Given the description of an element on the screen output the (x, y) to click on. 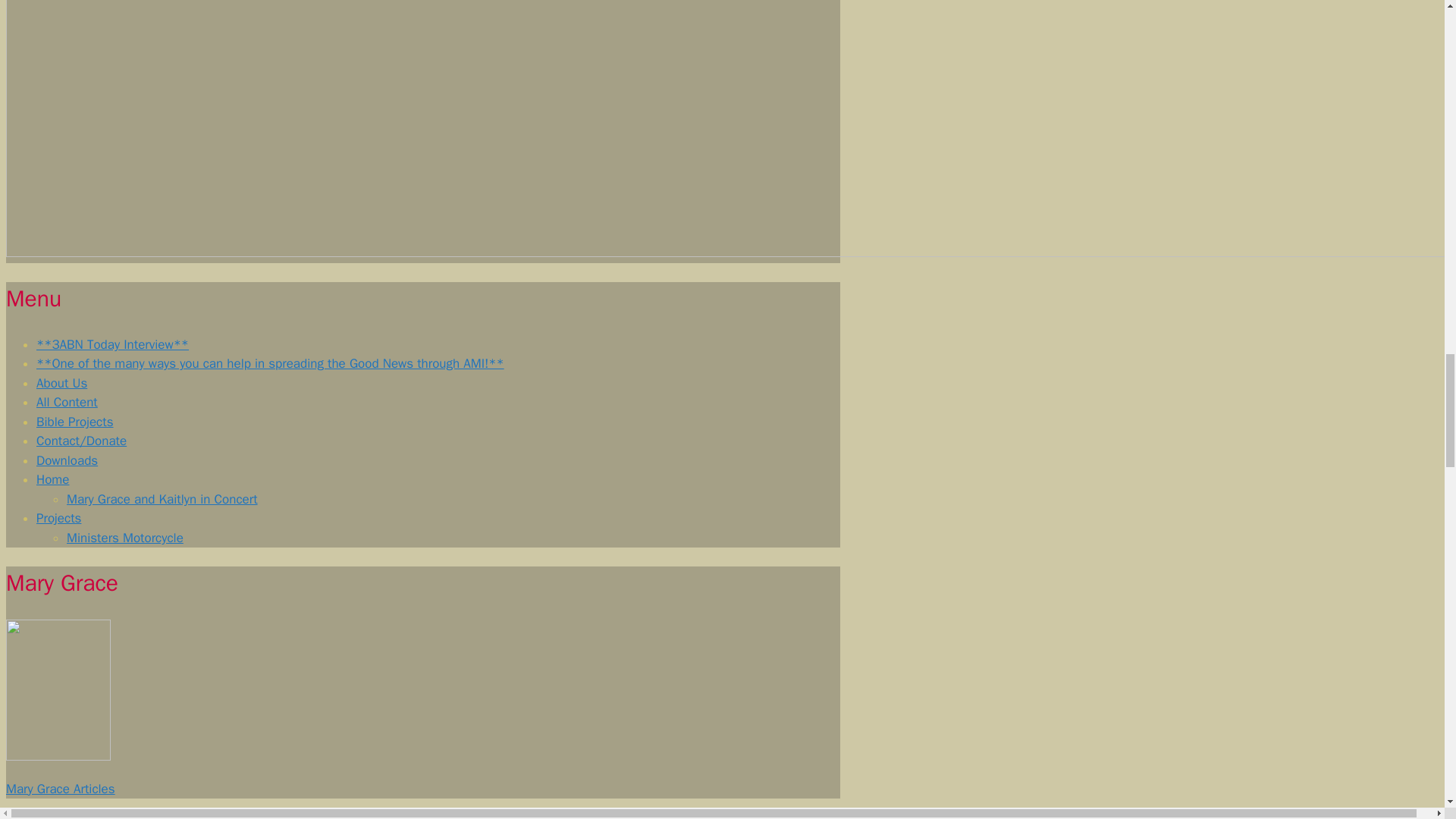
Downloads (66, 460)
Mary Grace and Kaitlyn in Concert (161, 498)
All Content (66, 401)
Projects (58, 518)
Bible Projects (74, 421)
Mary Grace Articles (60, 788)
Ministers Motorcycle (124, 537)
About Us (61, 383)
Home (52, 479)
